Given the description of an element on the screen output the (x, y) to click on. 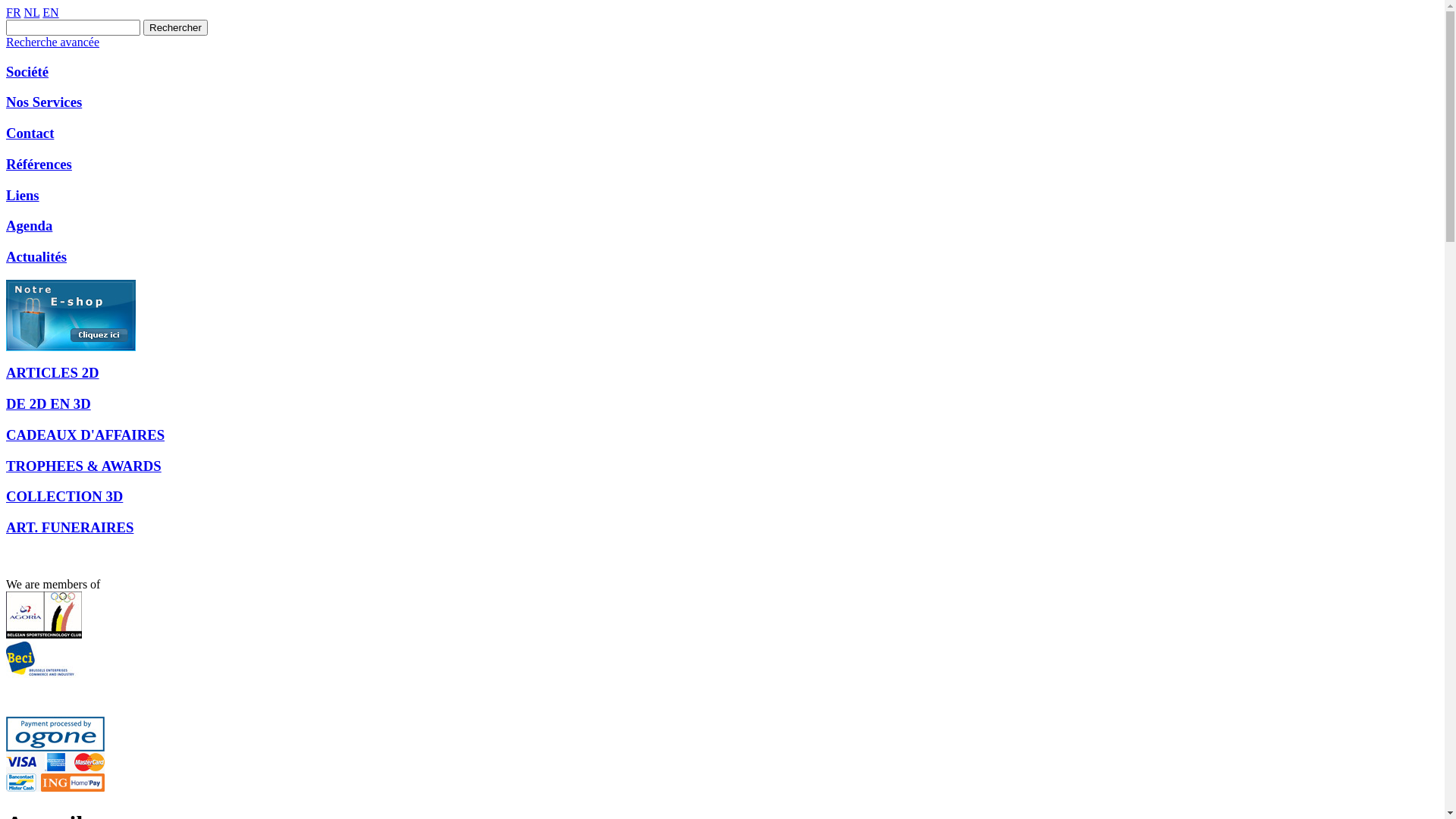
COLLECTION 3D Element type: text (722, 496)
Contact Element type: text (722, 133)
DE 2D EN 3D Element type: text (722, 403)
ART. FUNERAIRES Element type: text (722, 527)
FR Element type: text (13, 12)
Nos Services Element type: text (722, 102)
Agenda Element type: text (722, 225)
TROPHEES & AWARDS Element type: text (722, 466)
EN Element type: text (50, 12)
NL Element type: text (32, 12)
ARTICLES 2D Element type: text (722, 372)
CADEAUX D'AFFAIRES Element type: text (722, 434)
Rechercher Element type: text (175, 27)
Liens Element type: text (722, 195)
